Given the description of an element on the screen output the (x, y) to click on. 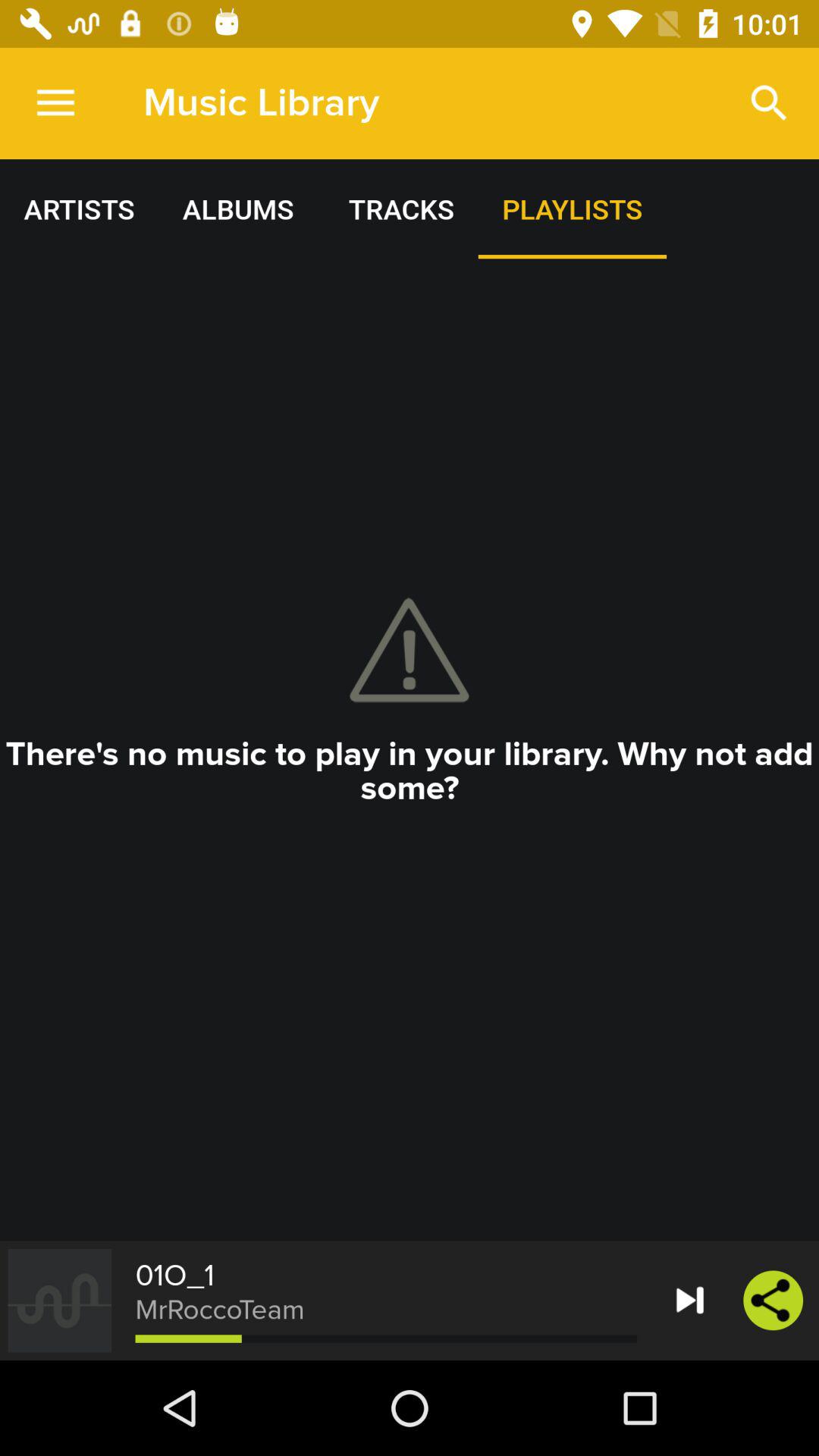
choose the icon to the left of music library item (55, 103)
